Given the description of an element on the screen output the (x, y) to click on. 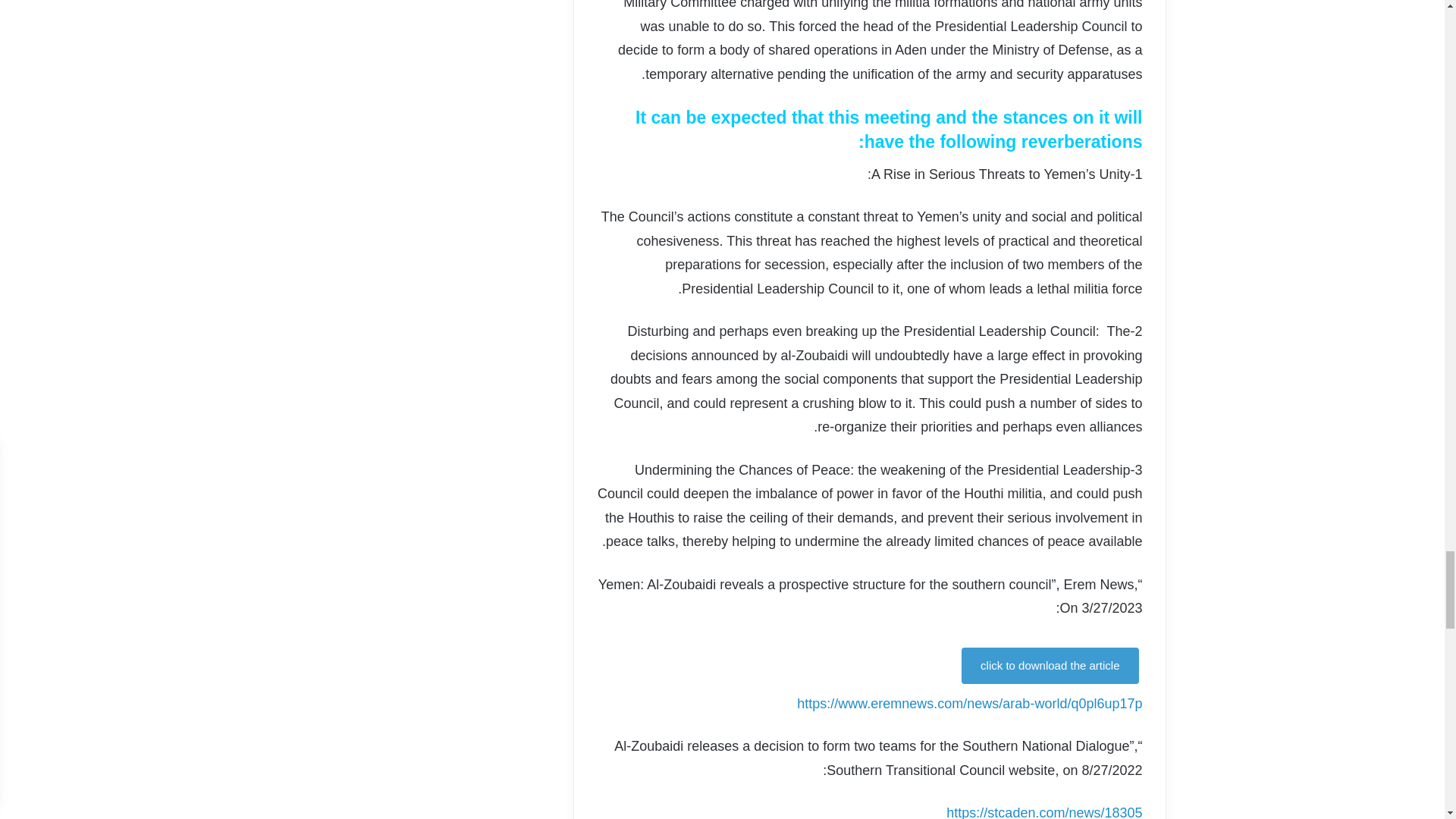
click to download the article (1049, 665)
